Given the description of an element on the screen output the (x, y) to click on. 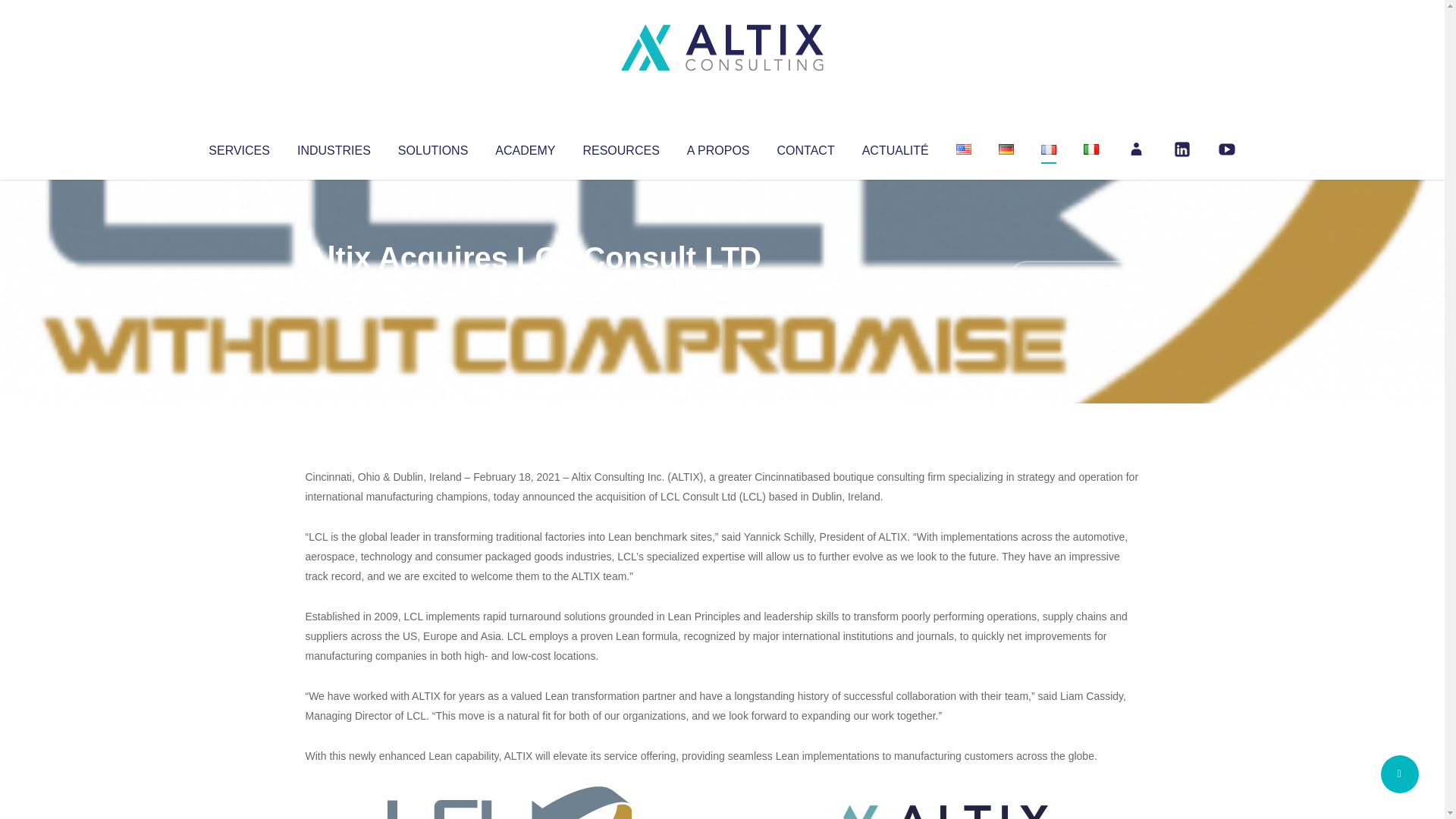
No Comments (1073, 278)
SOLUTIONS (432, 146)
ACADEMY (524, 146)
SERVICES (238, 146)
A PROPOS (718, 146)
INDUSTRIES (334, 146)
Altix (333, 287)
RESOURCES (620, 146)
Articles par Altix (333, 287)
Uncategorized (530, 287)
